Given the description of an element on the screen output the (x, y) to click on. 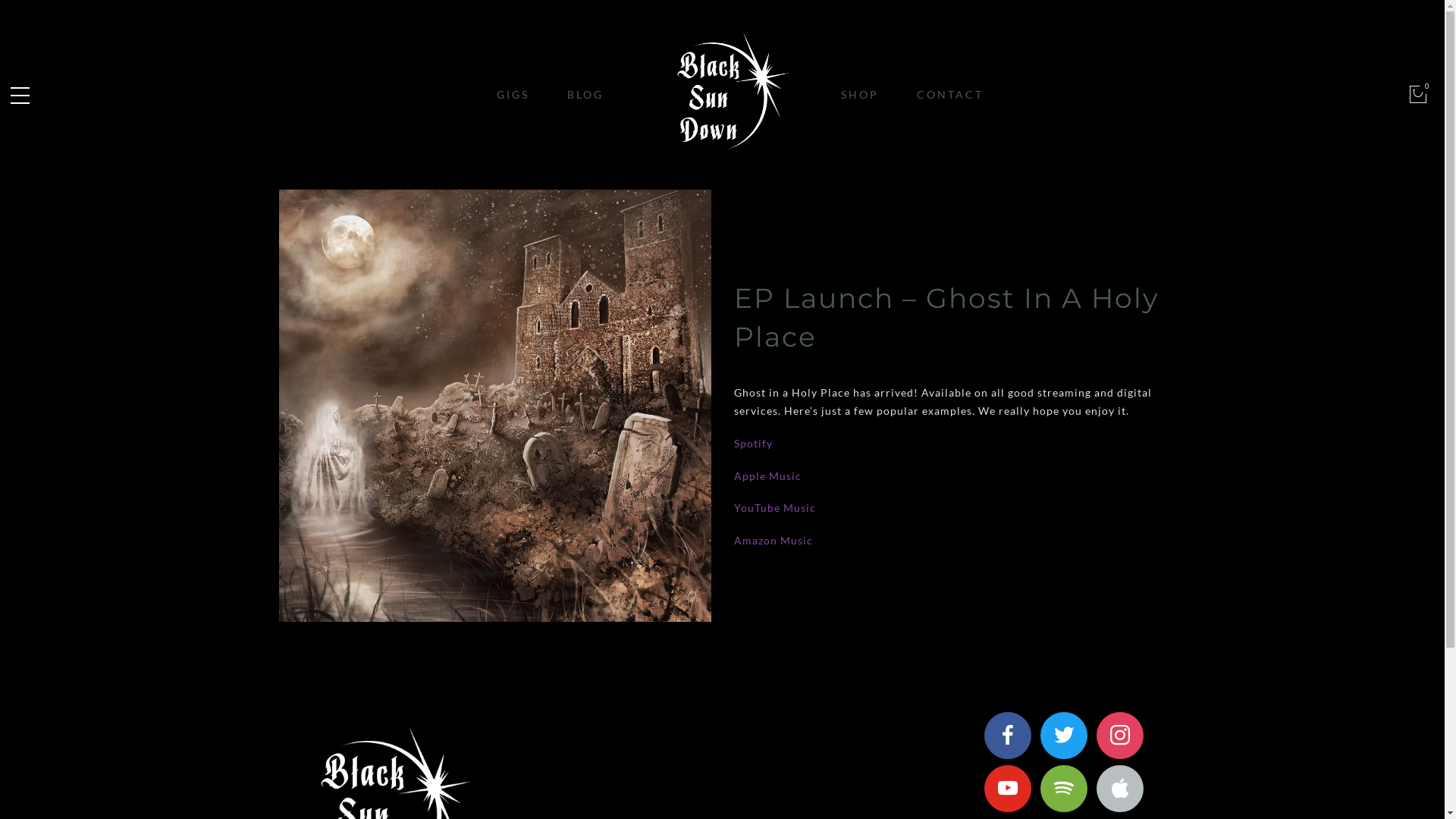
apple Element type: text (1119, 787)
Spotify Element type: text (753, 442)
CONTACT Element type: text (949, 93)
facebook Element type: text (1007, 734)
GIGS Element type: text (512, 93)
Apple Music Element type: text (767, 475)
0 Element type: text (1418, 93)
spotify Element type: text (1063, 787)
SHOP Element type: text (859, 93)
twitter Element type: text (1063, 734)
instagram Element type: text (1119, 734)
BLOG Element type: text (585, 93)
Amazon Music Element type: text (773, 539)
youtube Element type: text (1007, 787)
YouTube Music Element type: text (774, 507)
